Given the description of an element on the screen output the (x, y) to click on. 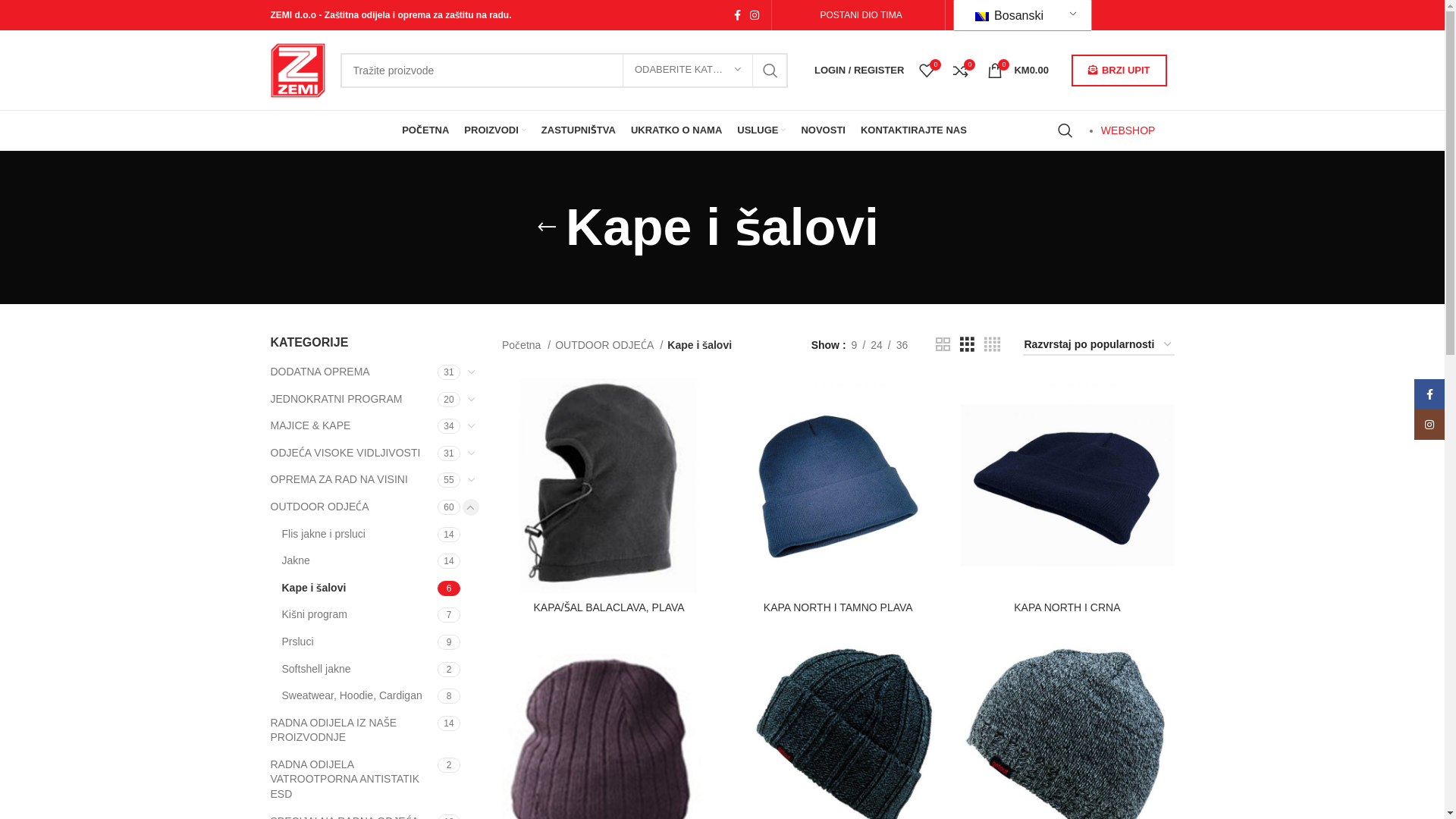
RADNA ODIJELA VATROOTPORNA ANTISTATIK ESD Element type: text (353, 779)
LOGIN / REGISTER Element type: text (858, 69)
36 Element type: text (902, 344)
KONTAKTIRAJTE NAS Element type: text (913, 130)
PROIZVODI Element type: text (495, 130)
0 Element type: text (926, 69)
KAPA NORTH I TAMNO PLAVA Element type: text (838, 607)
ODABERITE KATEGORIJU Element type: text (687, 70)
SEARCH Element type: text (770, 70)
Jakne Element type: text (360, 560)
Bosanski Element type: hover (981, 16)
Sweatwear, Hoodie, Cardigan Element type: text (360, 695)
MAJICE & KAPE Element type: text (353, 425)
Flis jakne i prsluci Element type: text (360, 534)
Softshell jakne Element type: text (360, 669)
Bosanski Element type: text (1019, 15)
NOVOSTI Element type: text (822, 130)
DODATNA OPREMA Element type: text (353, 371)
Search Element type: hover (1065, 130)
JEDNOKRATNI PROGRAM Element type: text (353, 399)
9 Element type: text (854, 344)
USLUGE Element type: text (761, 130)
OPREMA ZA RAD NA VISINI Element type: text (353, 479)
0
KM0.00 Element type: text (1017, 69)
Prsluci Element type: text (360, 641)
24 Element type: text (876, 344)
KAPA NORTH I CRNA Element type: text (1066, 607)
UKRATKO O NAMA Element type: text (675, 130)
WEBSHOP Element type: text (1128, 130)
0 Element type: text (960, 69)
BRZI UPIT Element type: text (1119, 70)
POSTANI DIO TIMA Element type: text (857, 15)
